Given the description of an element on the screen output the (x, y) to click on. 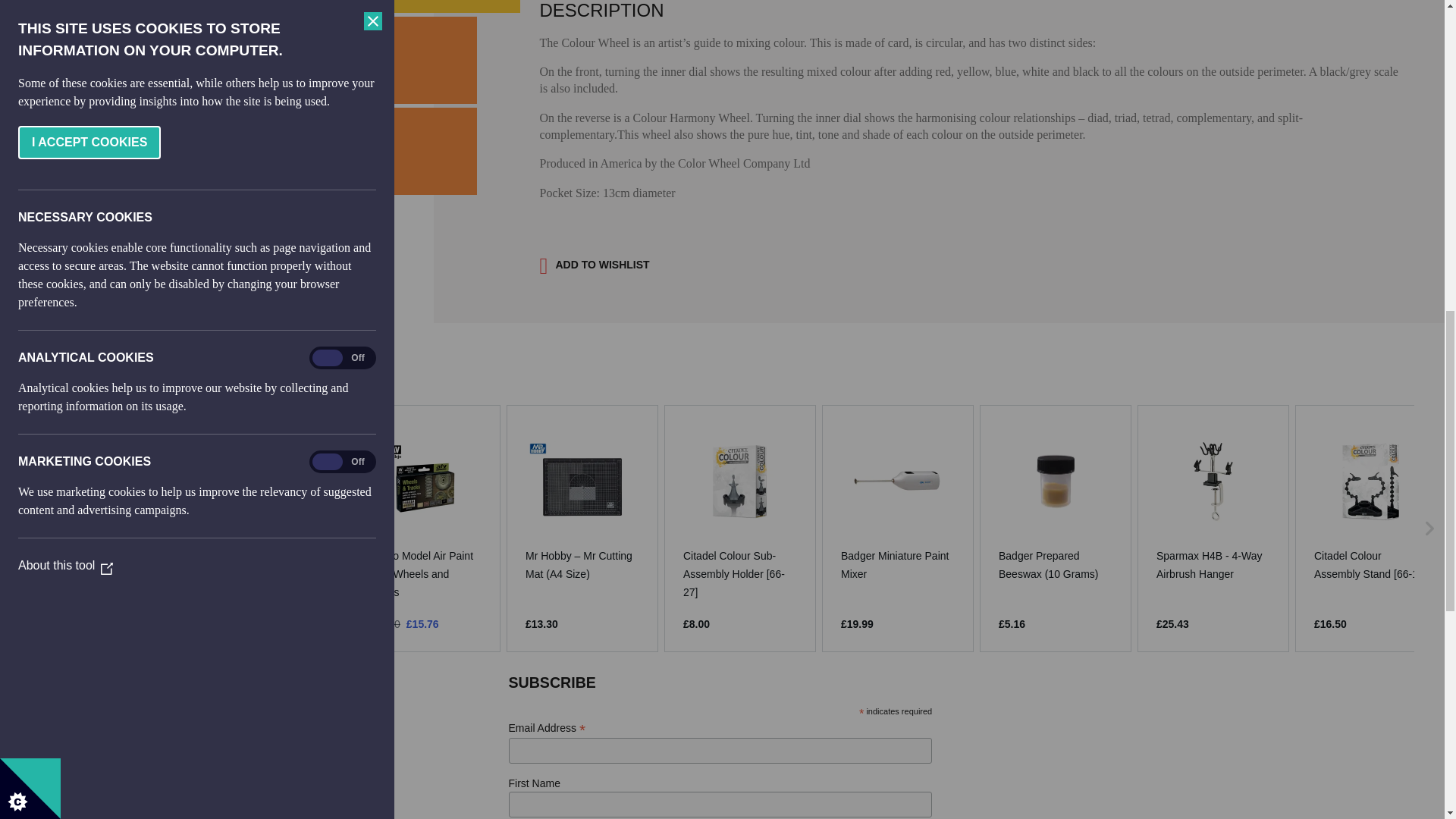
Vallejo Model Air Paint Set - Wheels and Tracks (424, 574)
Badger Miniature Paint Mixer (898, 565)
Colour Wheel - Artist's Size (108, 565)
Sparmax H4B - 4-Way Airbrush Hanger (1212, 565)
